Given the description of an element on the screen output the (x, y) to click on. 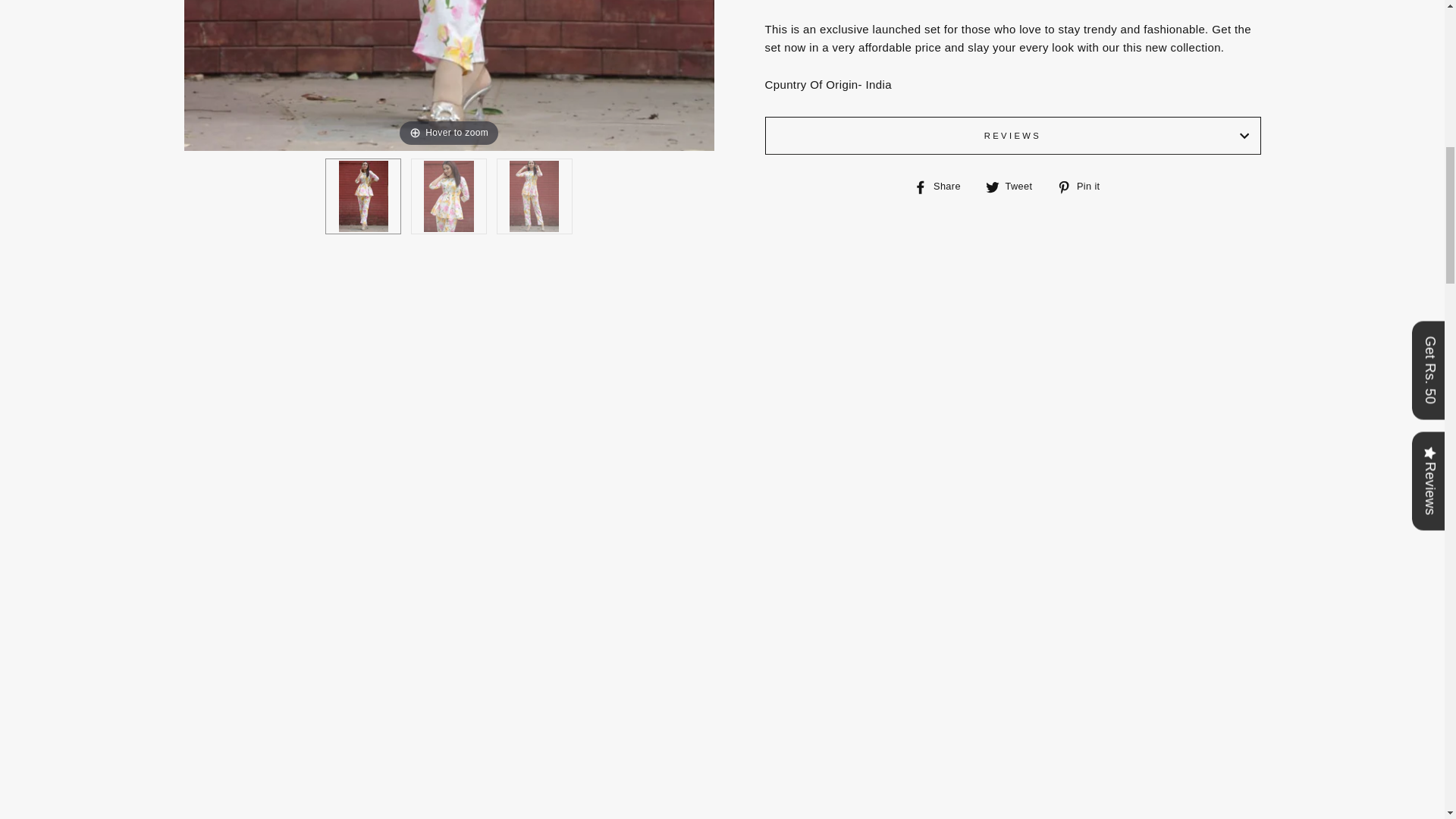
Pin on Pinterest (1083, 186)
Love at First Sight Smarty Co-Ord Set (362, 196)
Love at First Sight Smarty Co-Ord Set (534, 196)
Tweet on Twitter (1014, 186)
Love at First Sight Smarty Co-Ord Set (448, 196)
Share on Facebook (942, 186)
